Given the description of an element on the screen output the (x, y) to click on. 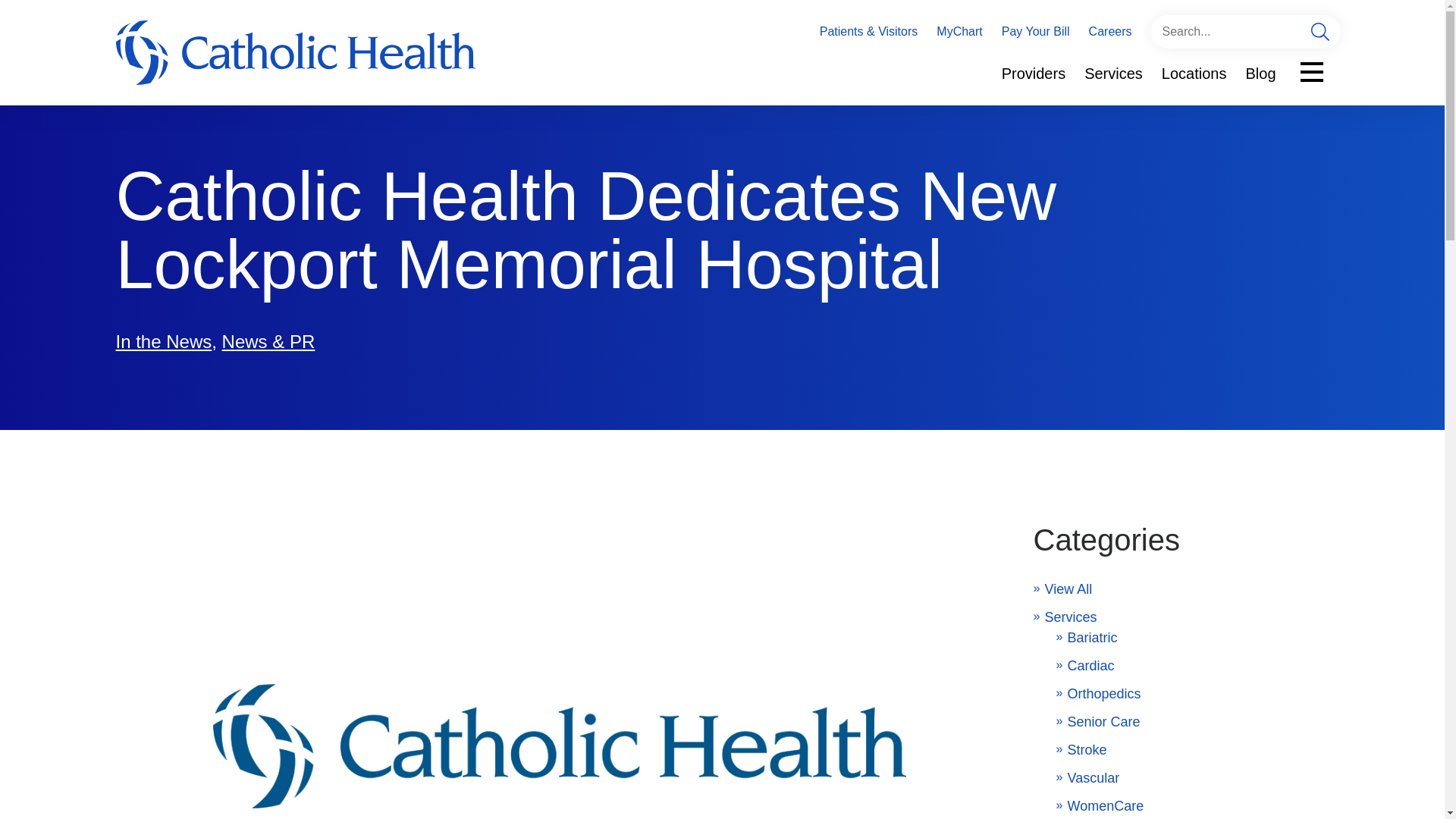
Services (1071, 616)
Blog (1259, 73)
Providers (1033, 73)
Careers (1110, 31)
Cardiac (1091, 665)
Orthopedics (1104, 693)
Senior Care (1103, 721)
MyChart (958, 31)
Pay Your Bill (1035, 31)
Vascular (1093, 777)
